Given the description of an element on the screen output the (x, y) to click on. 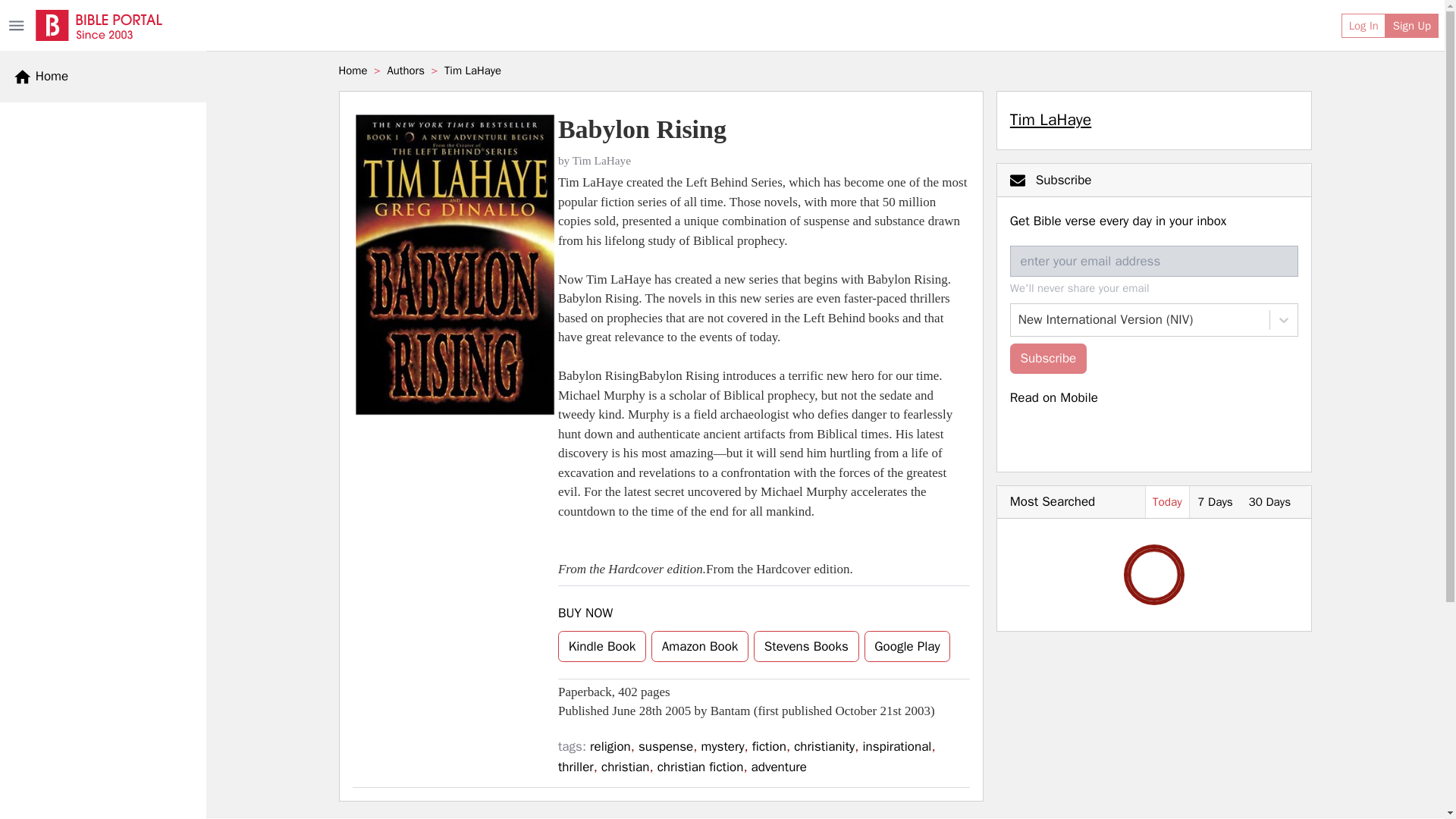
Log In (1363, 25)
Home (40, 76)
Sign Up (1412, 25)
